Given the description of an element on the screen output the (x, y) to click on. 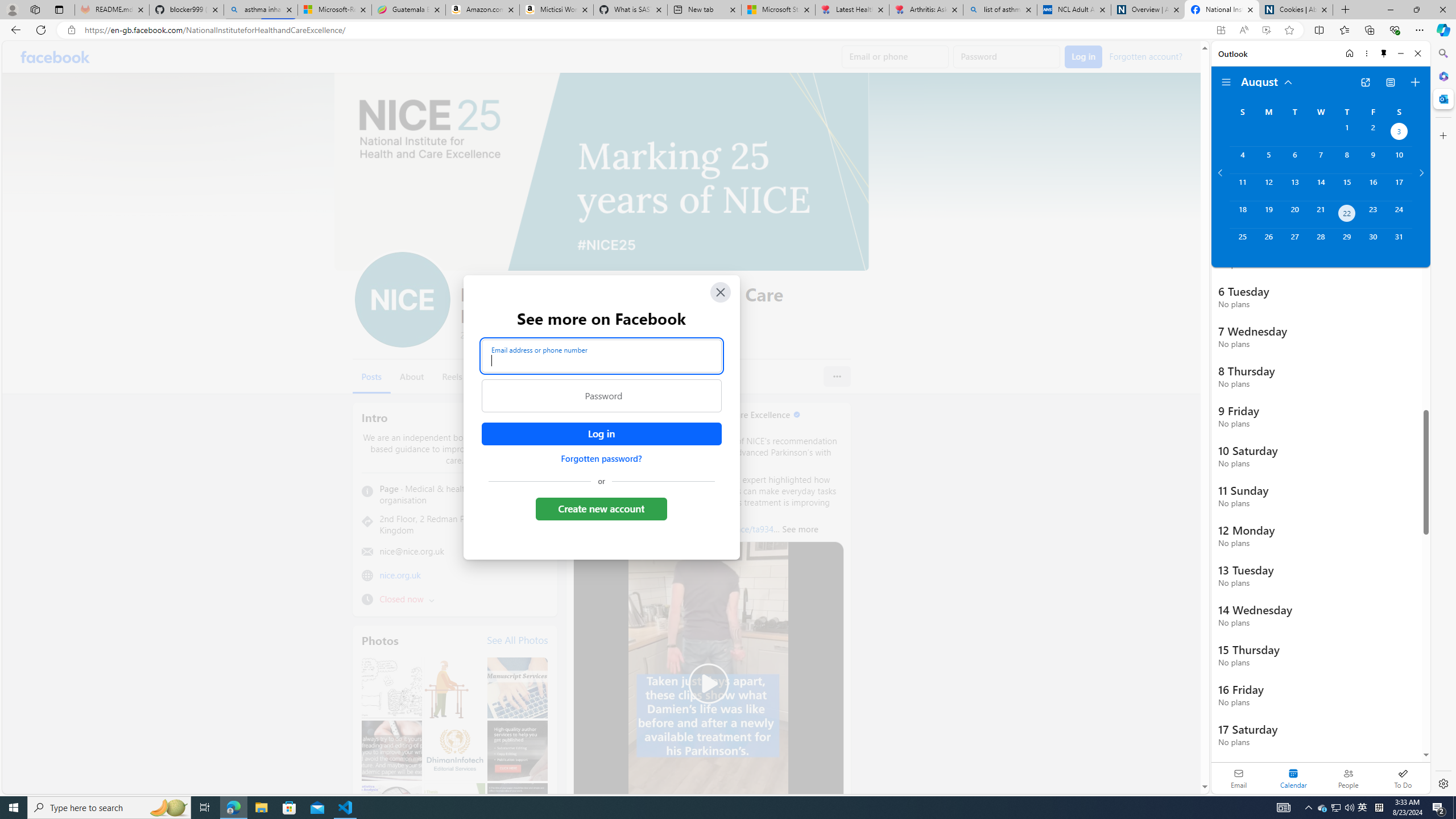
Saturday, August 10, 2024.  (1399, 159)
Wednesday, August 7, 2024.  (1320, 159)
Monday, August 26, 2024.  (1268, 241)
Friday, August 2, 2024.  (1372, 132)
Email address or phone number (600, 355)
Email or phone (895, 56)
Wednesday, August 21, 2024.  (1320, 214)
